Given the description of an element on the screen output the (x, y) to click on. 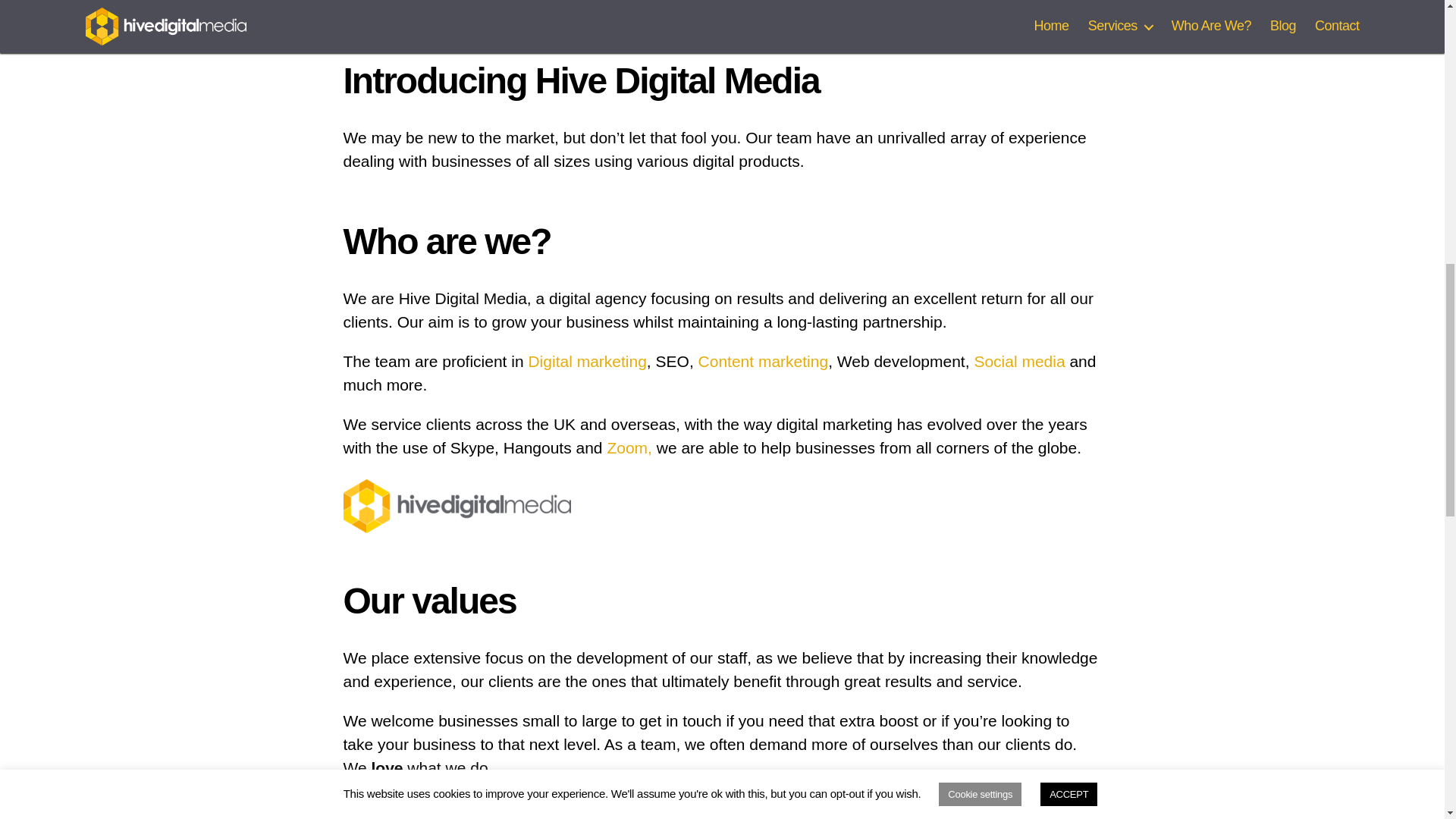
Digital marketing (586, 361)
Content marketing (763, 361)
